Given the description of an element on the screen output the (x, y) to click on. 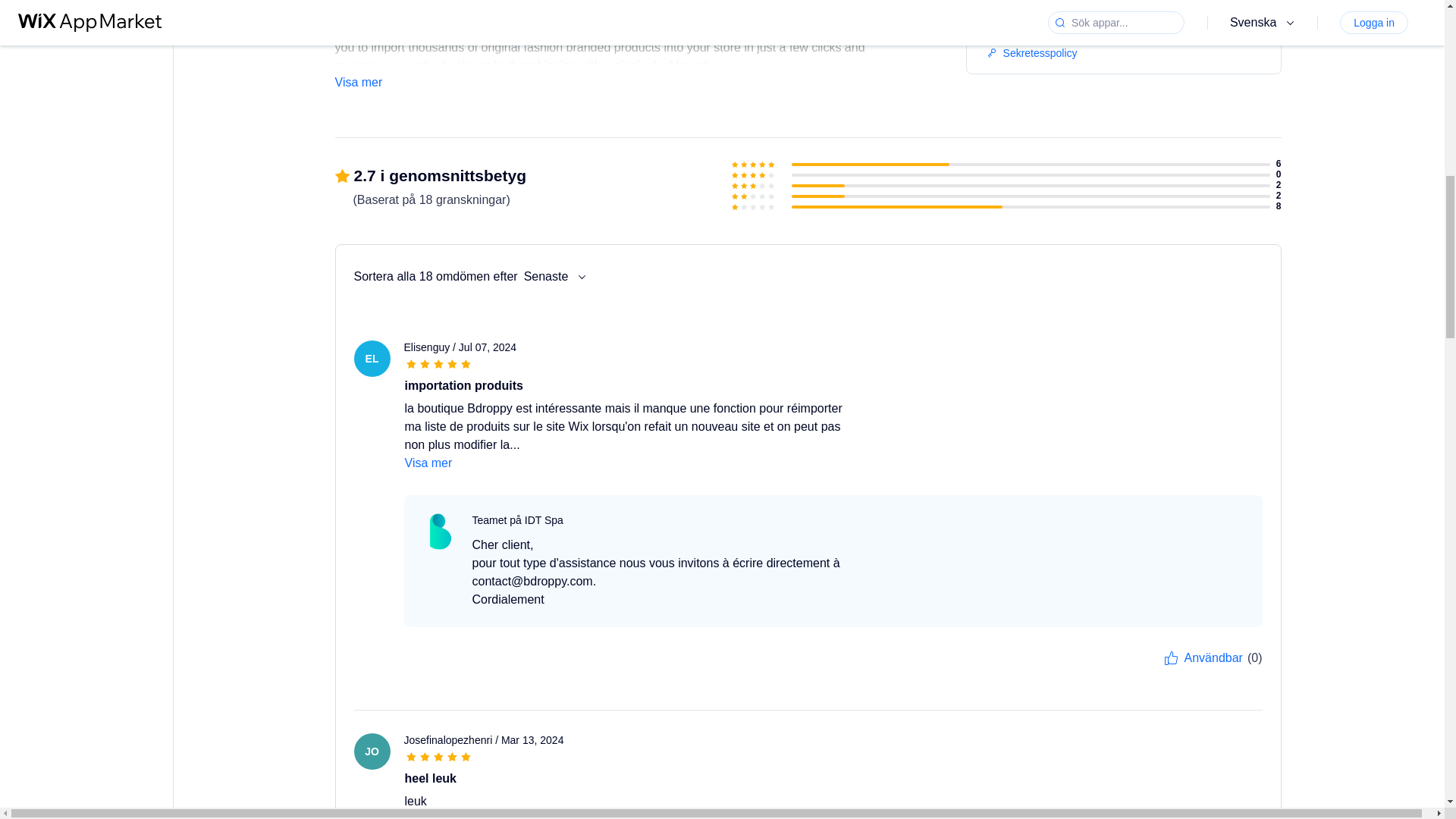
IDT Spa (440, 531)
j o (371, 751)
e l (371, 358)
